Given the description of an element on the screen output the (x, y) to click on. 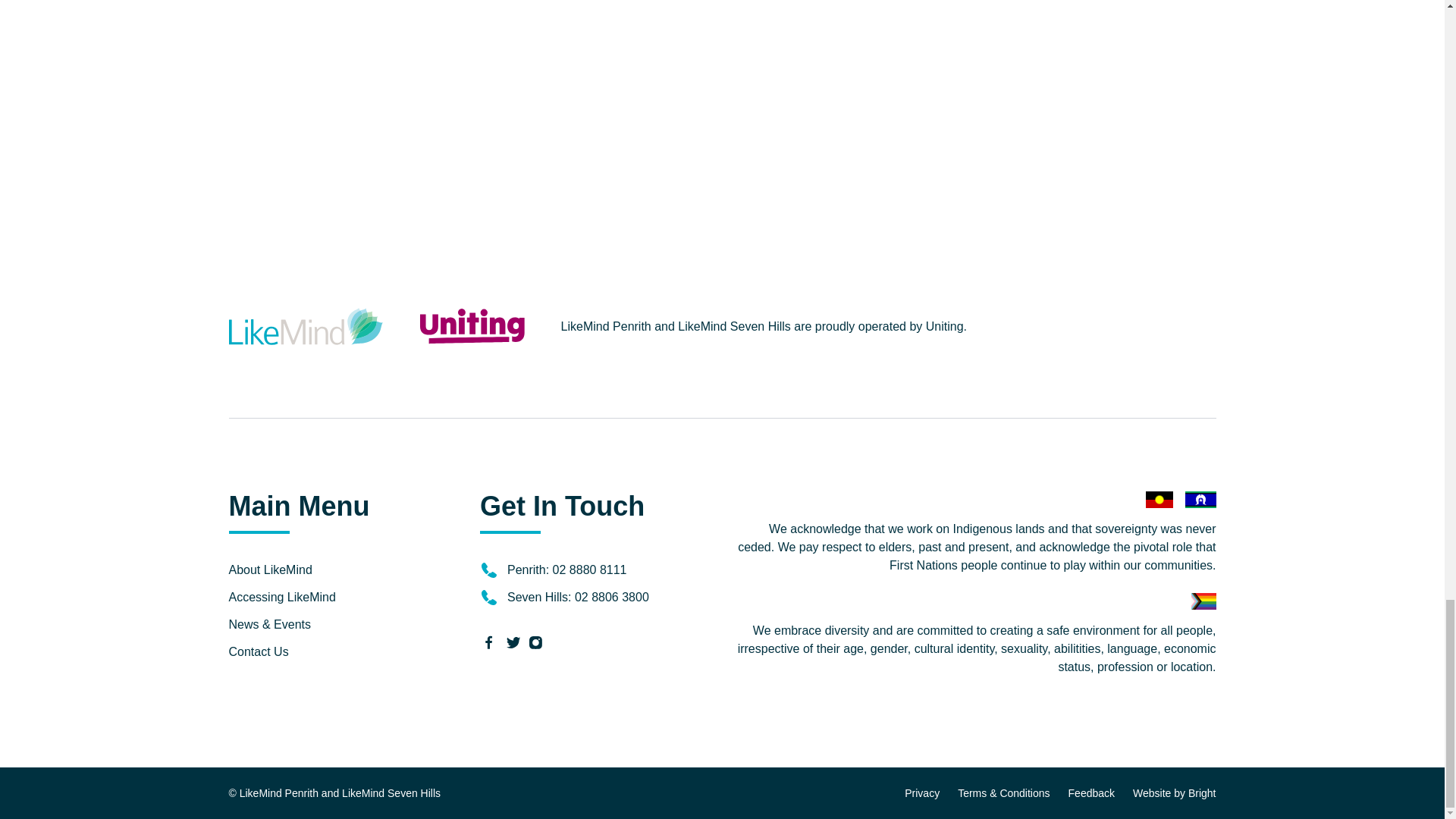
Feedback (1091, 793)
About LikeMind (270, 569)
Accessing LikeMind (282, 596)
Privacy (921, 793)
02 8806 3800 (612, 596)
02 8880 8111 (590, 569)
Website by Bright (1173, 793)
Contact Us (258, 651)
